Given the description of an element on the screen output the (x, y) to click on. 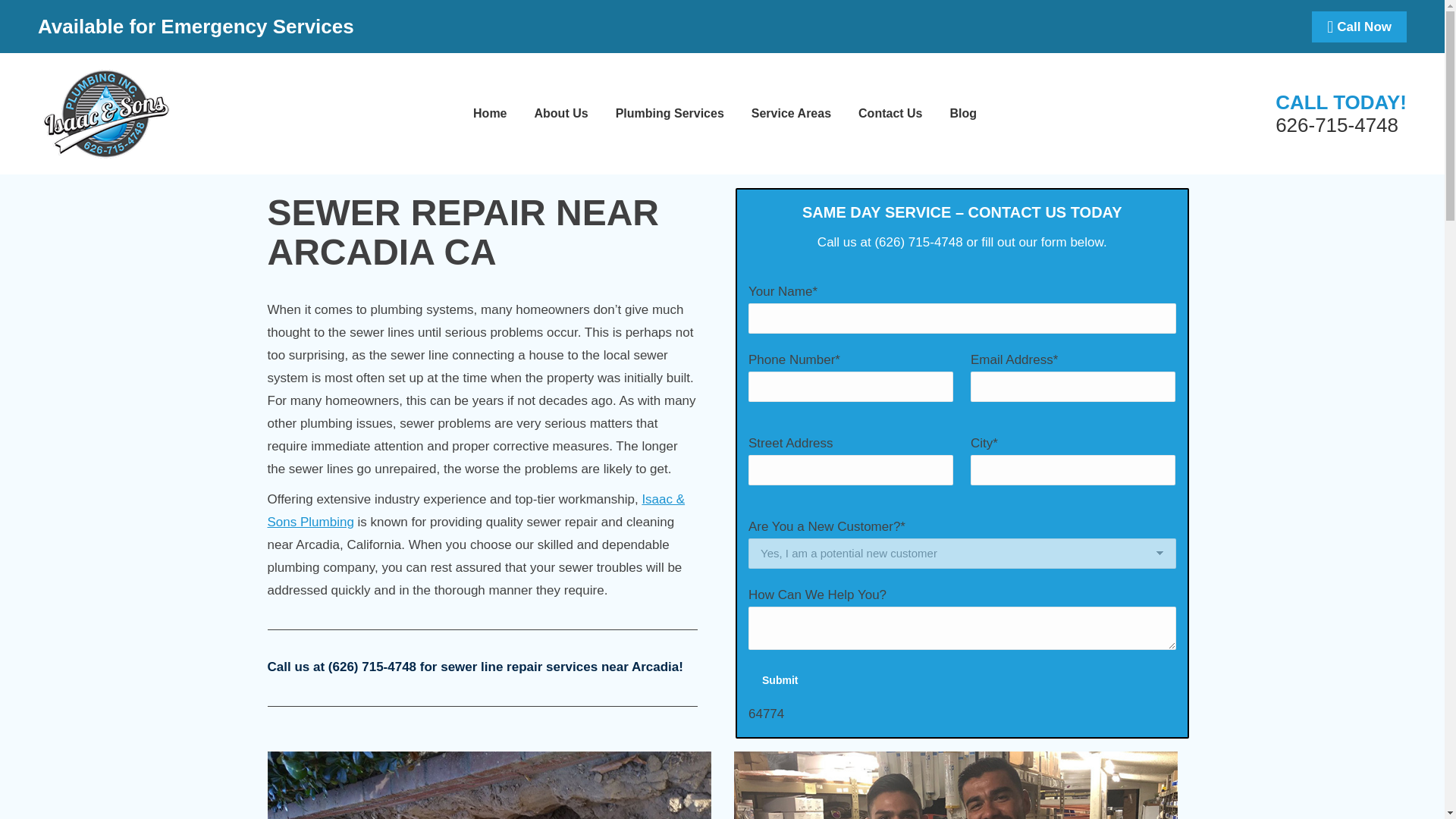
Call Now (1358, 25)
Contact Us (890, 113)
Submit (779, 679)
About Us (561, 113)
Service Areas (791, 113)
Blog (963, 113)
Plumbing Services (669, 113)
Home (489, 113)
